Given the description of an element on the screen output the (x, y) to click on. 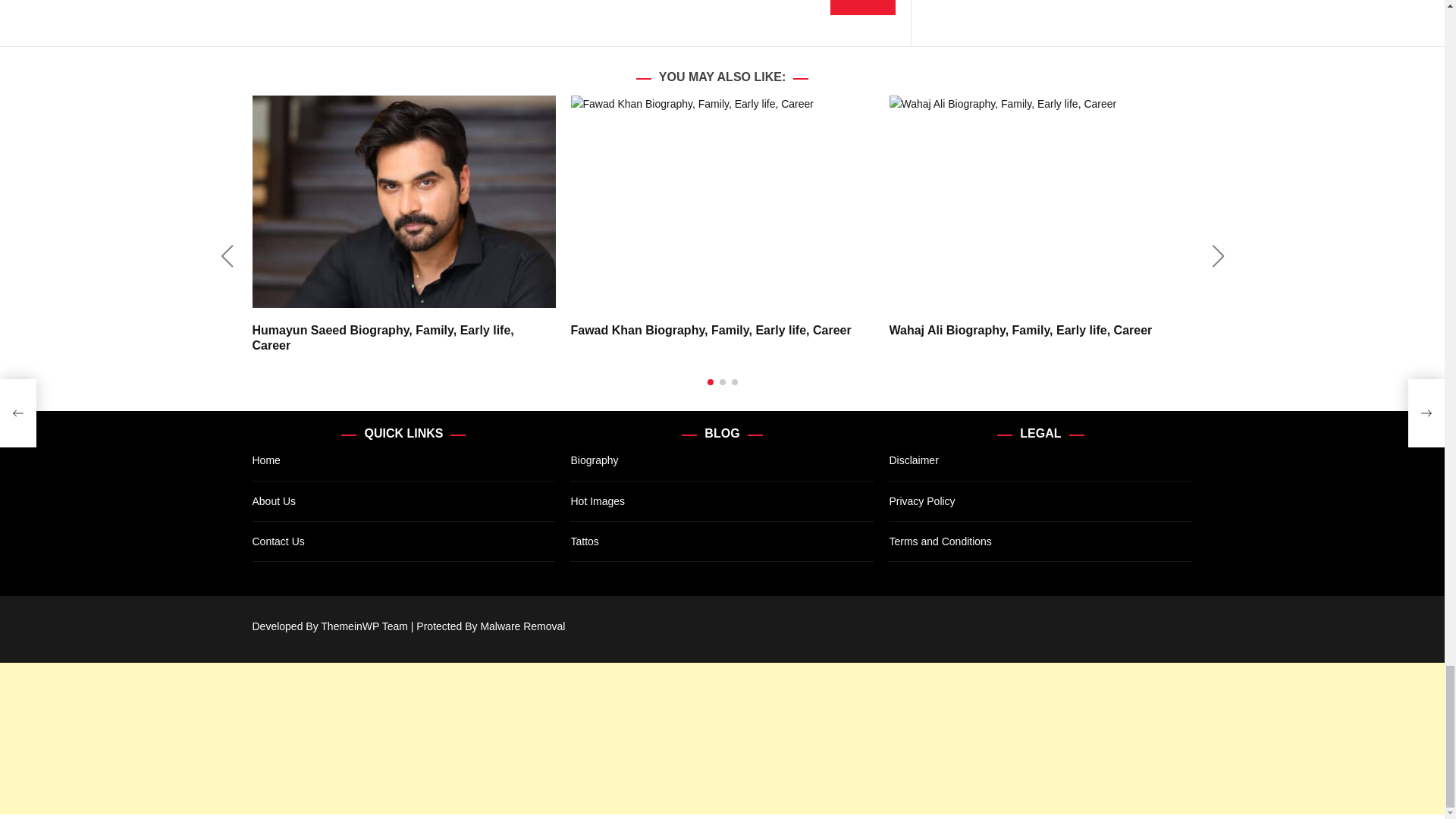
Submit (862, 7)
